Given the description of an element on the screen output the (x, y) to click on. 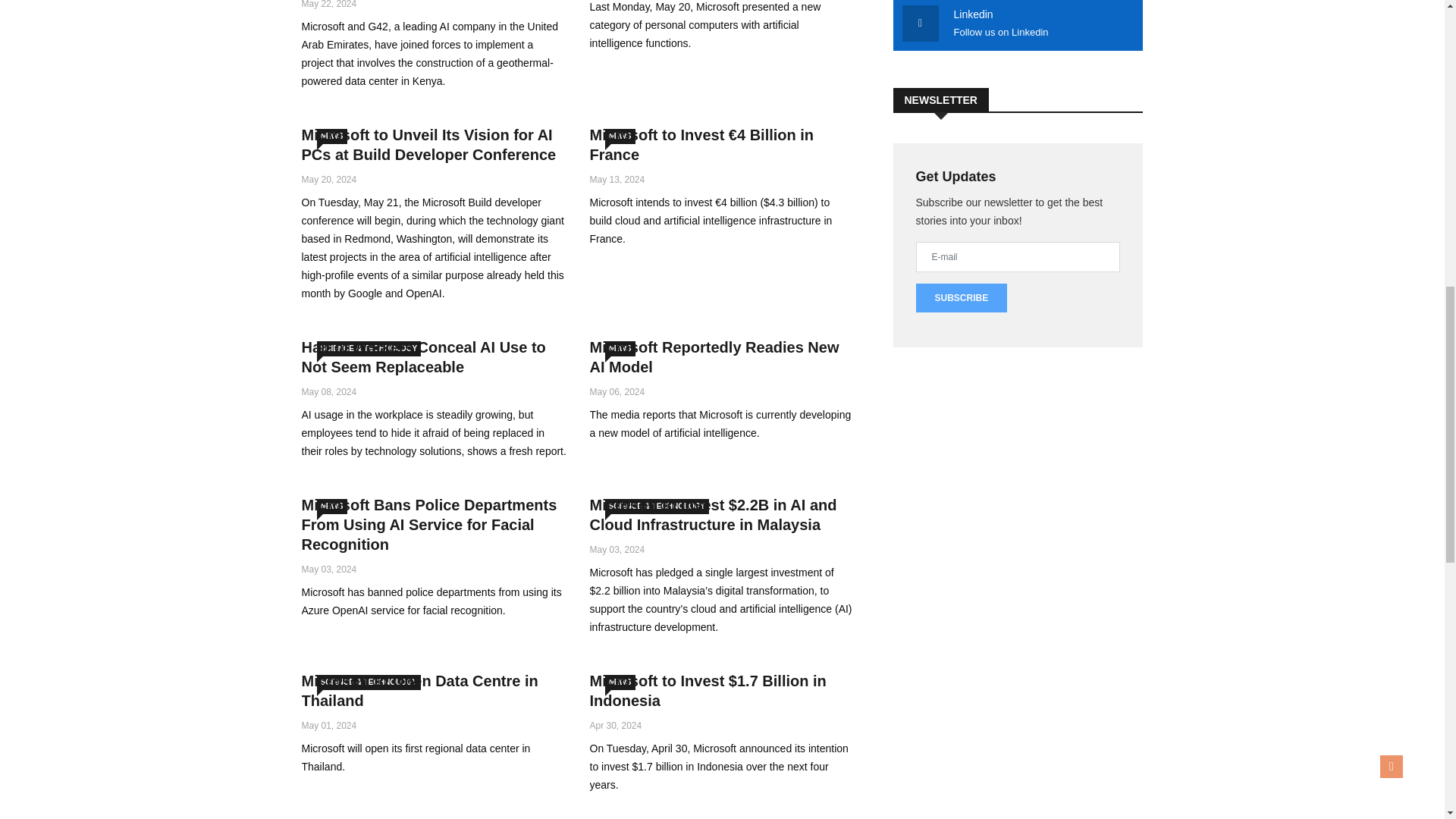
NEWS (619, 136)
NEWS (332, 136)
